Given the description of an element on the screen output the (x, y) to click on. 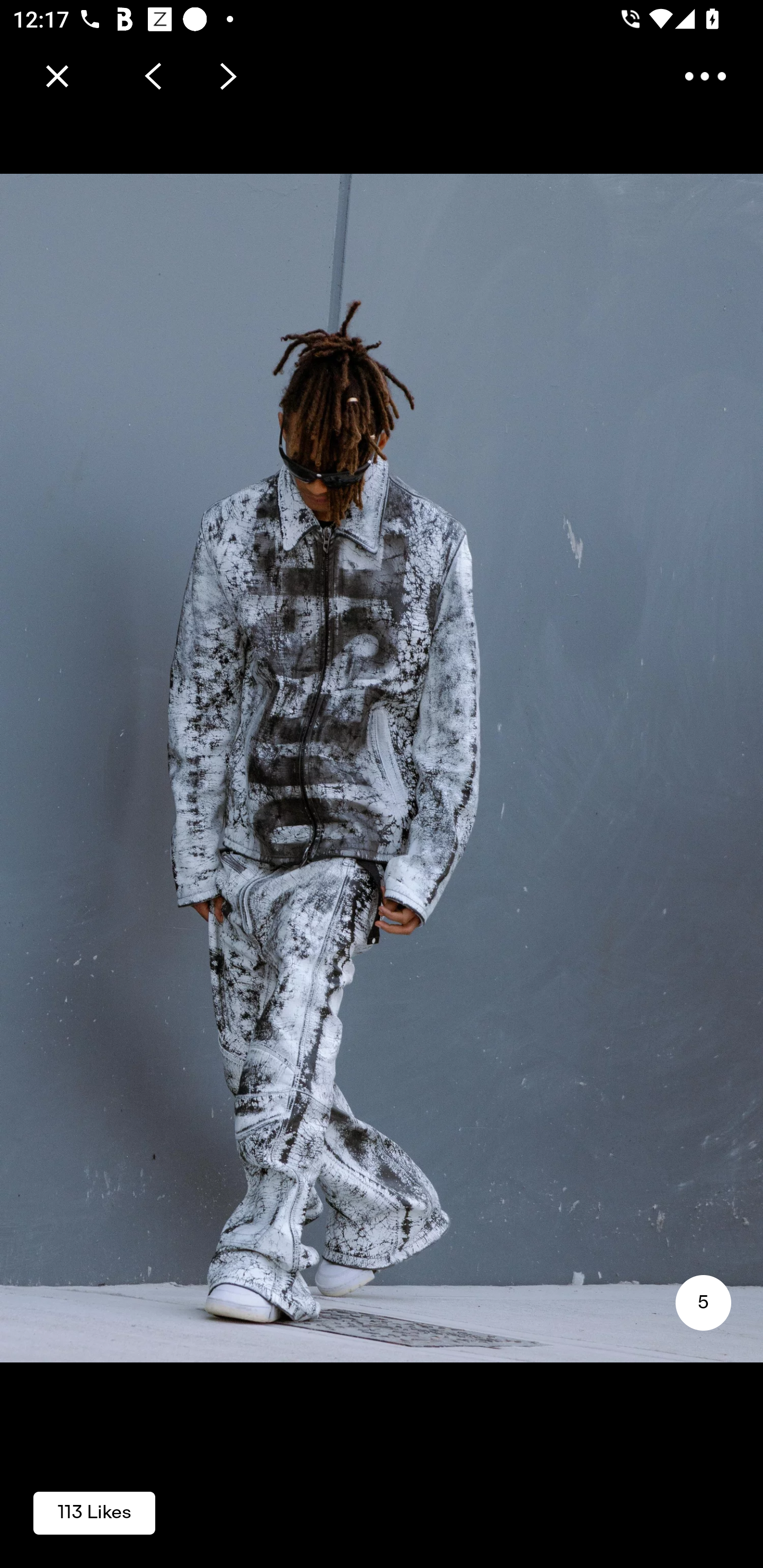
5 (702, 1302)
113 Likes (94, 1512)
